Given the description of an element on the screen output the (x, y) to click on. 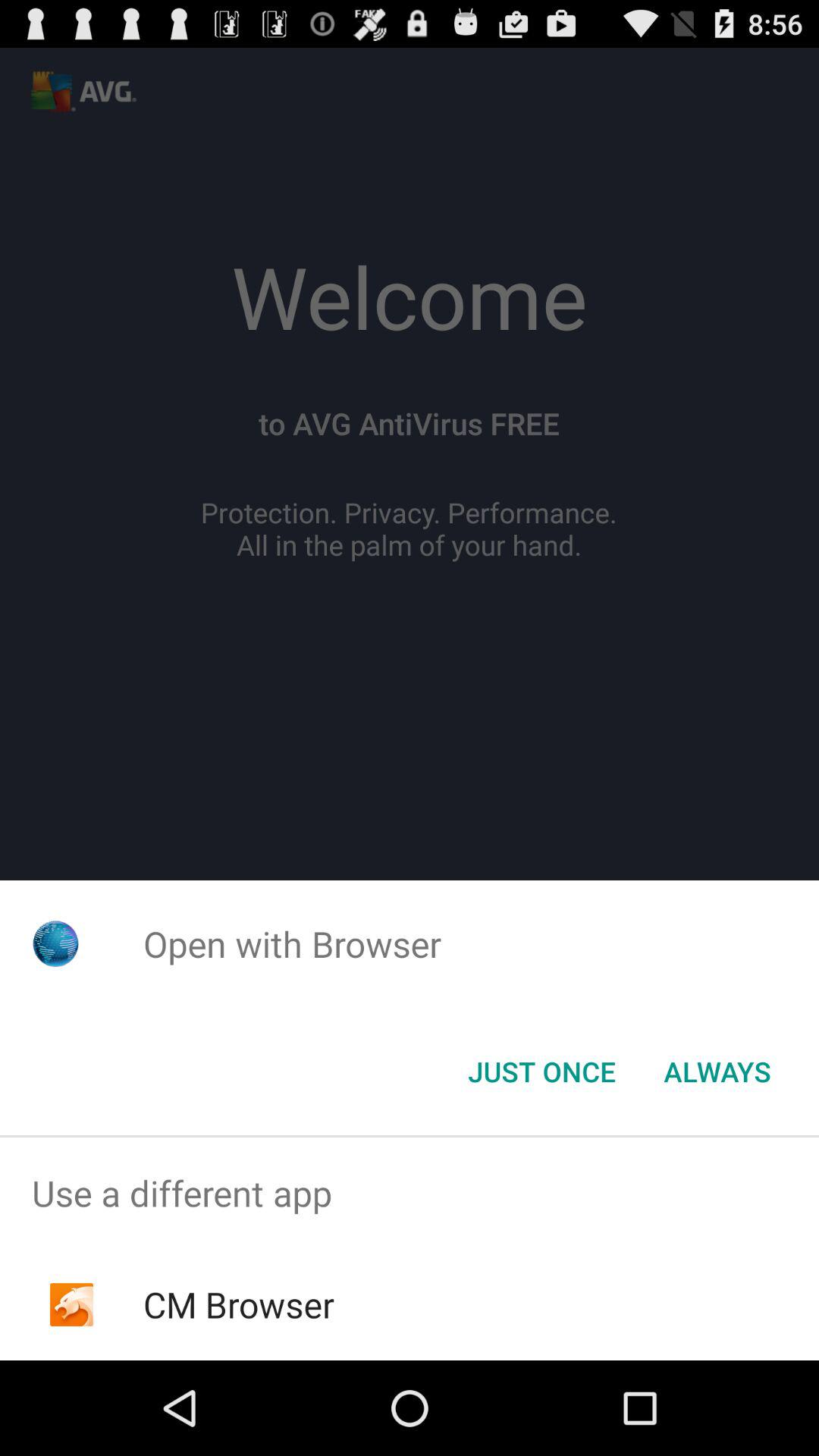
tap the use a different (409, 1192)
